Given the description of an element on the screen output the (x, y) to click on. 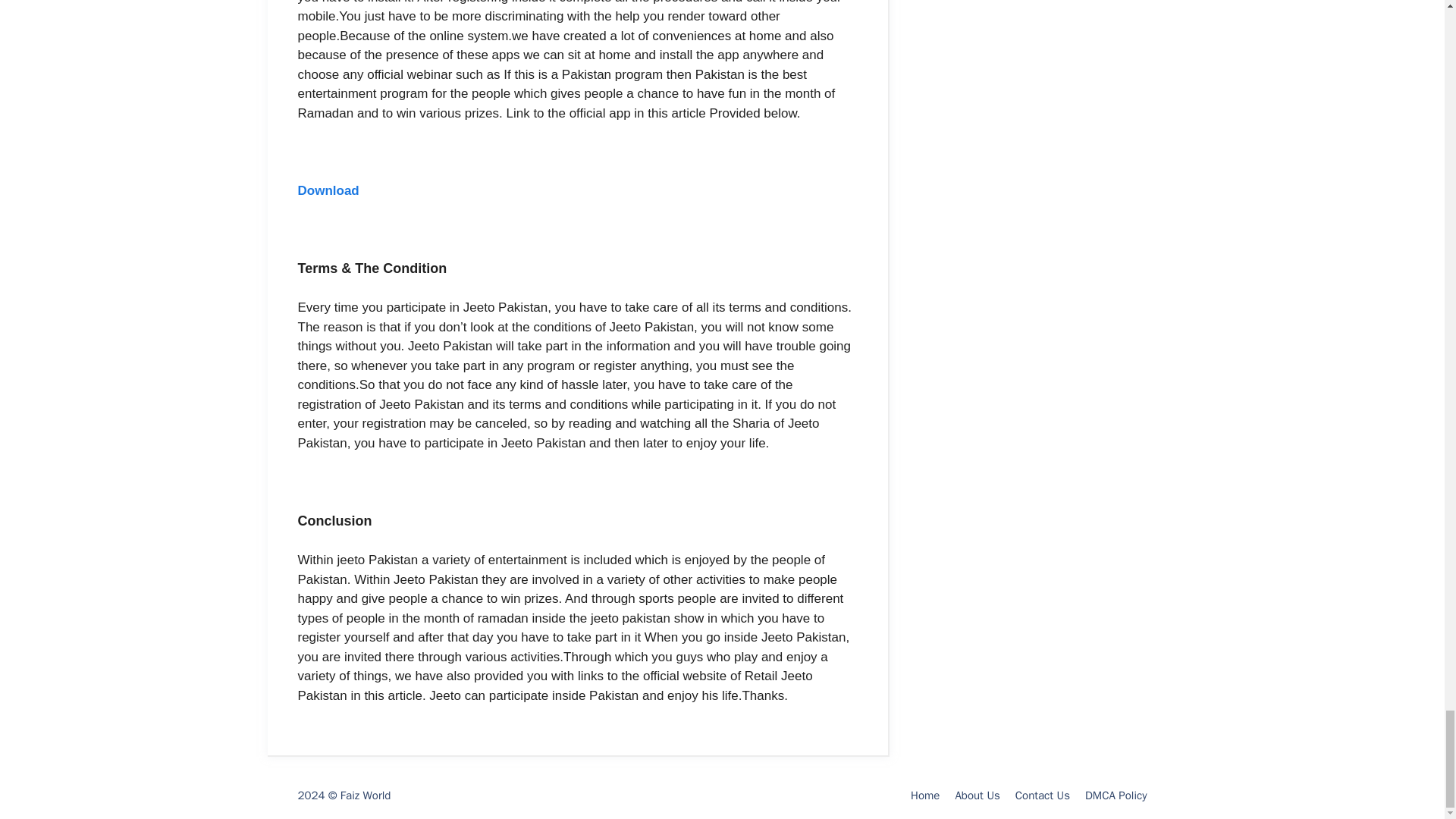
Download (327, 190)
About Us (976, 795)
Home (925, 795)
DMCA Policy (1115, 795)
Contact Us (1042, 795)
